Given the description of an element on the screen output the (x, y) to click on. 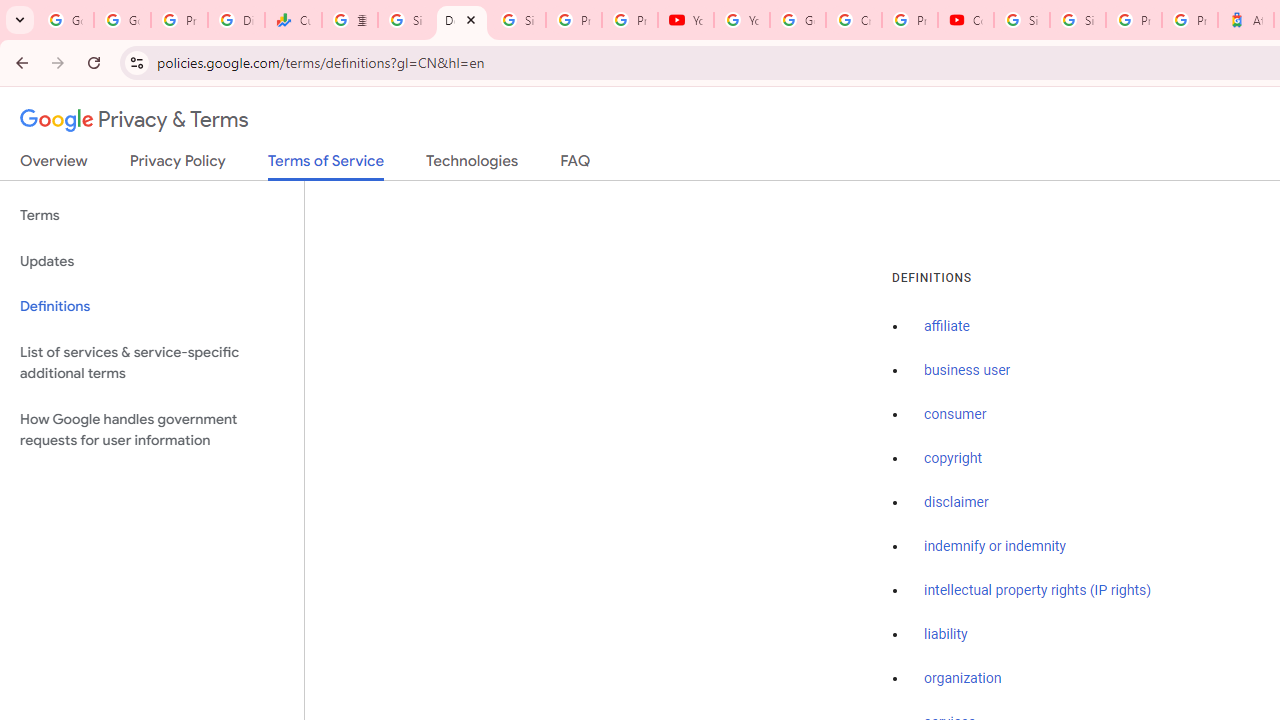
affiliate (947, 327)
Create your Google Account (853, 20)
